Given the description of an element on the screen output the (x, y) to click on. 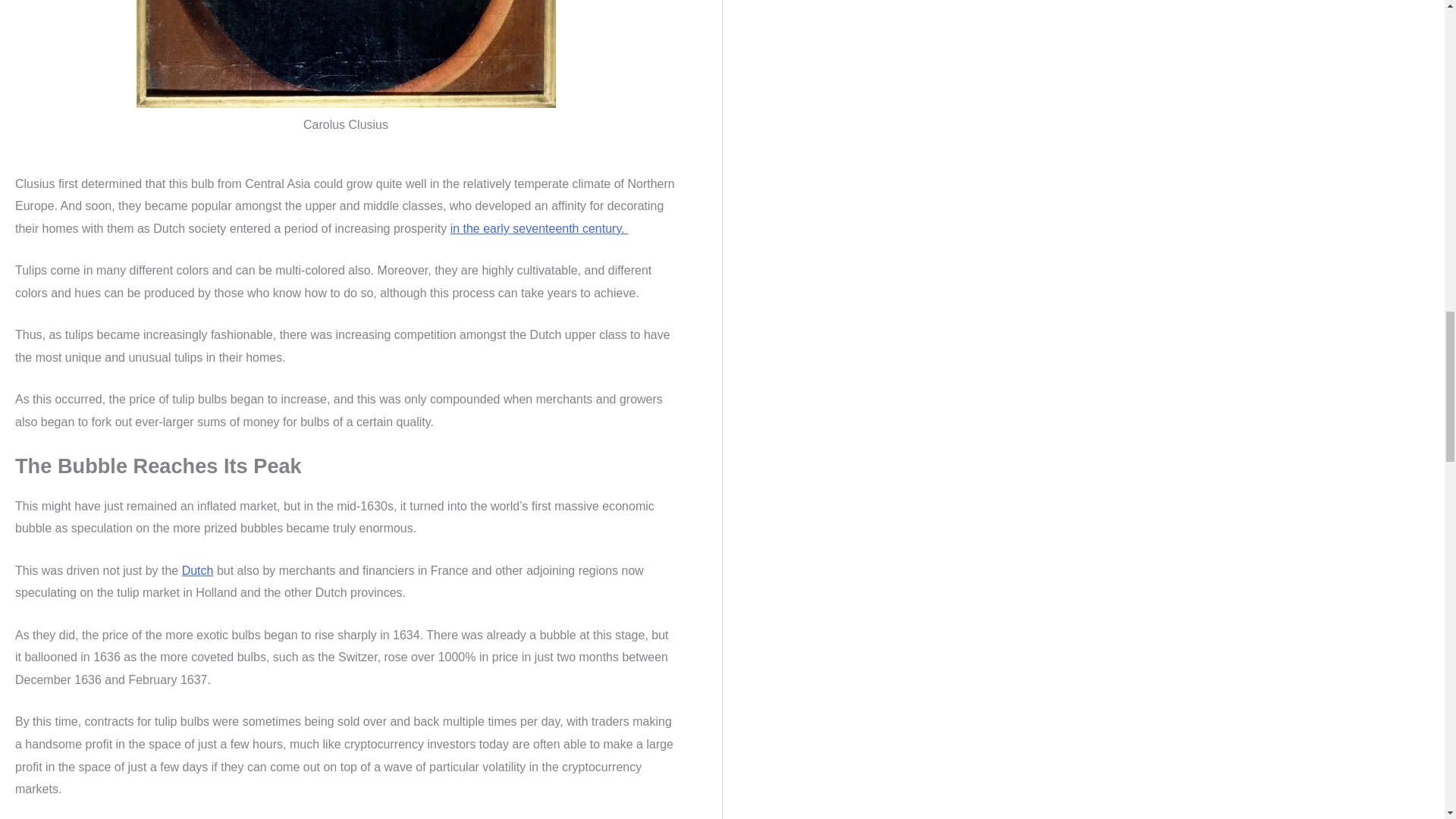
Dutch (198, 570)
What Were The Most Important Events of the 17th Century? (538, 228)
in the early seventeenth century.  (538, 228)
